Given the description of an element on the screen output the (x, y) to click on. 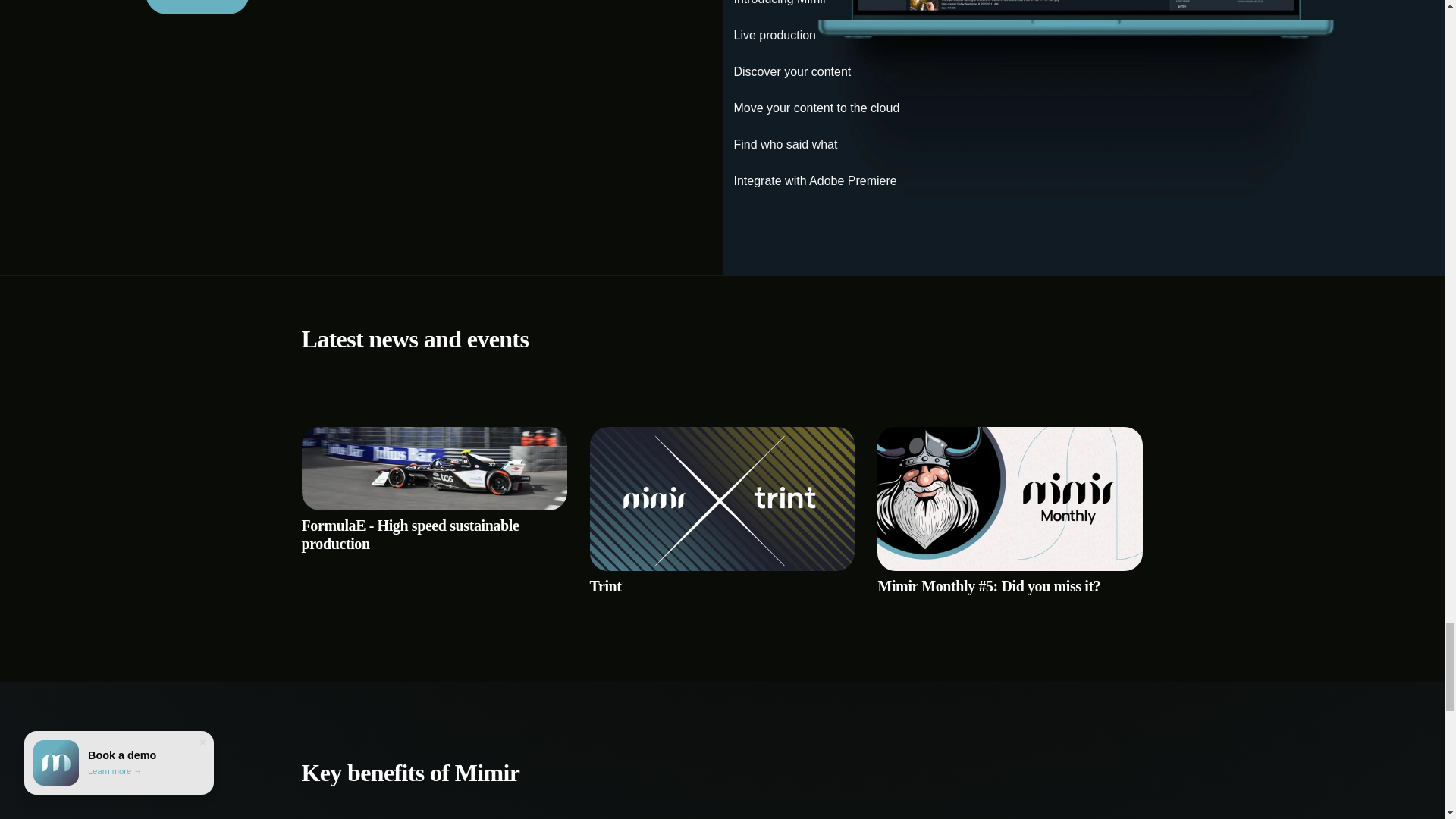
Book a demo (196, 7)
